Given the description of an element on the screen output the (x, y) to click on. 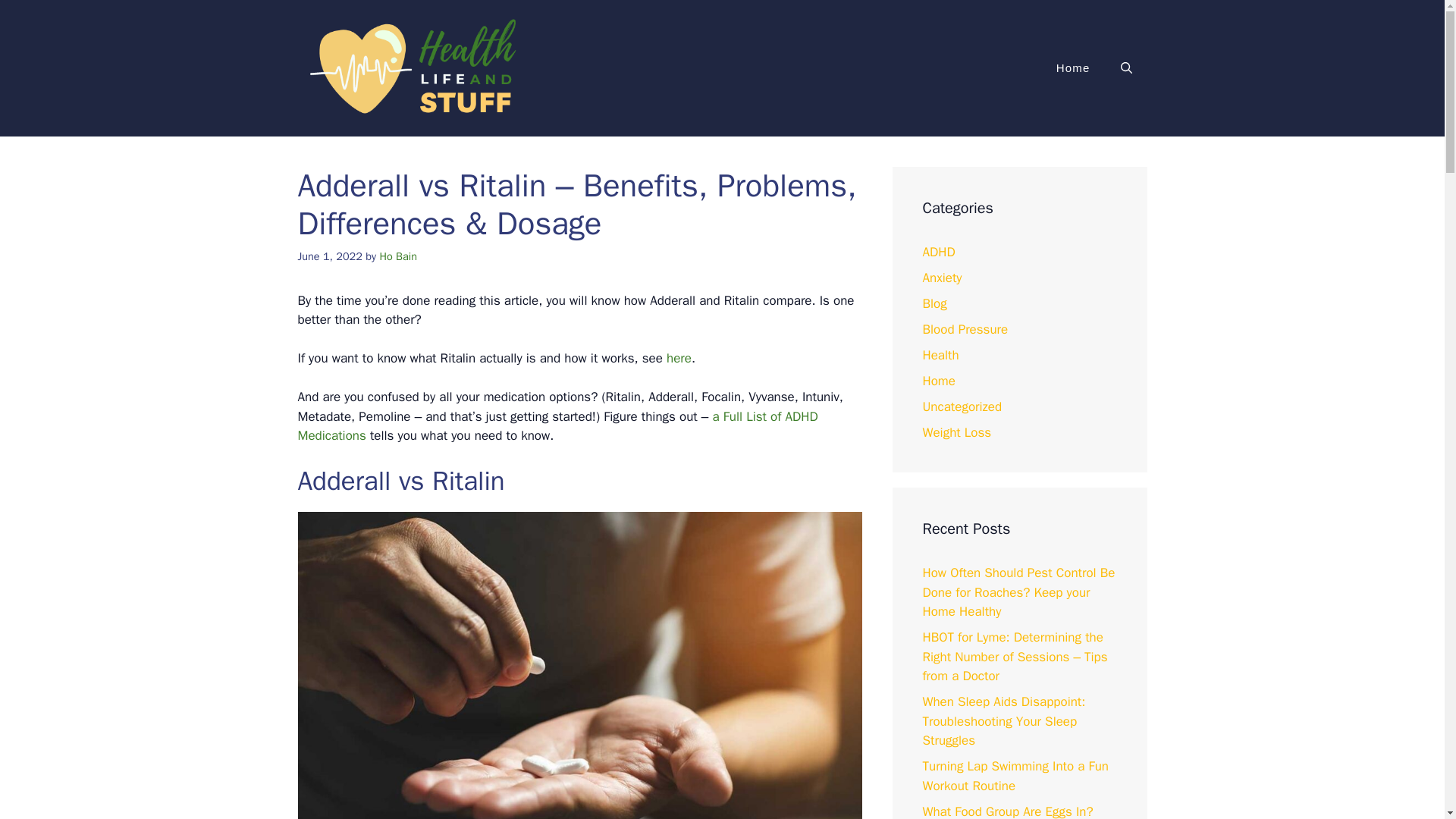
View all posts by Ho Bain (397, 255)
Turning Lap Swimming Into a Fun Workout Routine (1014, 775)
Anxiety (940, 277)
ADHD (938, 252)
Health (939, 355)
Blood Pressure (964, 329)
here (678, 358)
Home (1073, 67)
Weight Loss (956, 432)
Blog (933, 303)
Home (938, 381)
Uncategorized (961, 406)
